Given the description of an element on the screen output the (x, y) to click on. 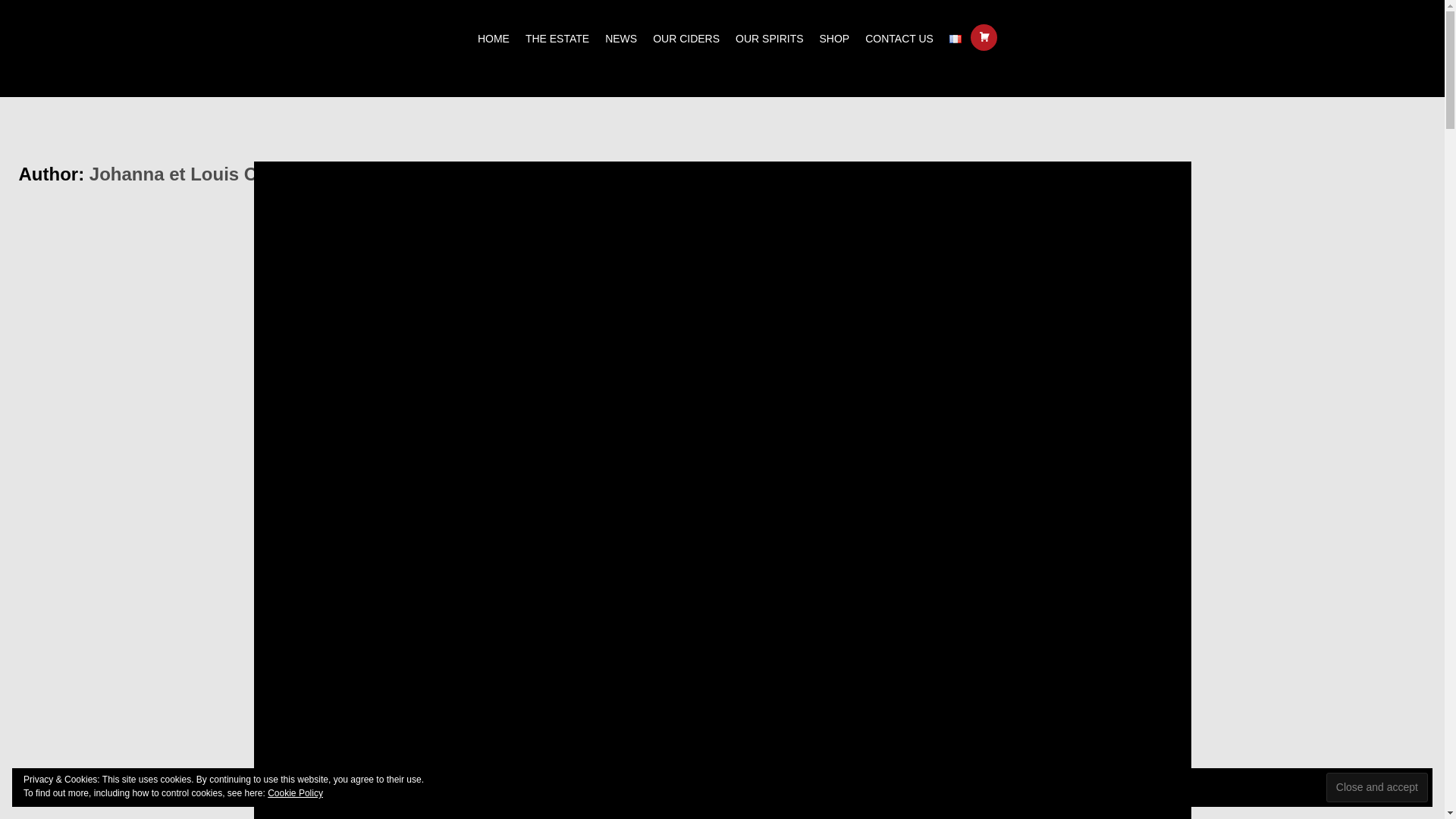
OUR CIDERS (685, 37)
Close and accept (1377, 787)
THE ESTATE (557, 37)
CONTACT US (898, 37)
Close and accept (1377, 787)
SHOP (834, 37)
HOME (493, 37)
View your shopping cart (984, 38)
NEWS (621, 37)
Cookie Policy (295, 792)
